Given the description of an element on the screen output the (x, y) to click on. 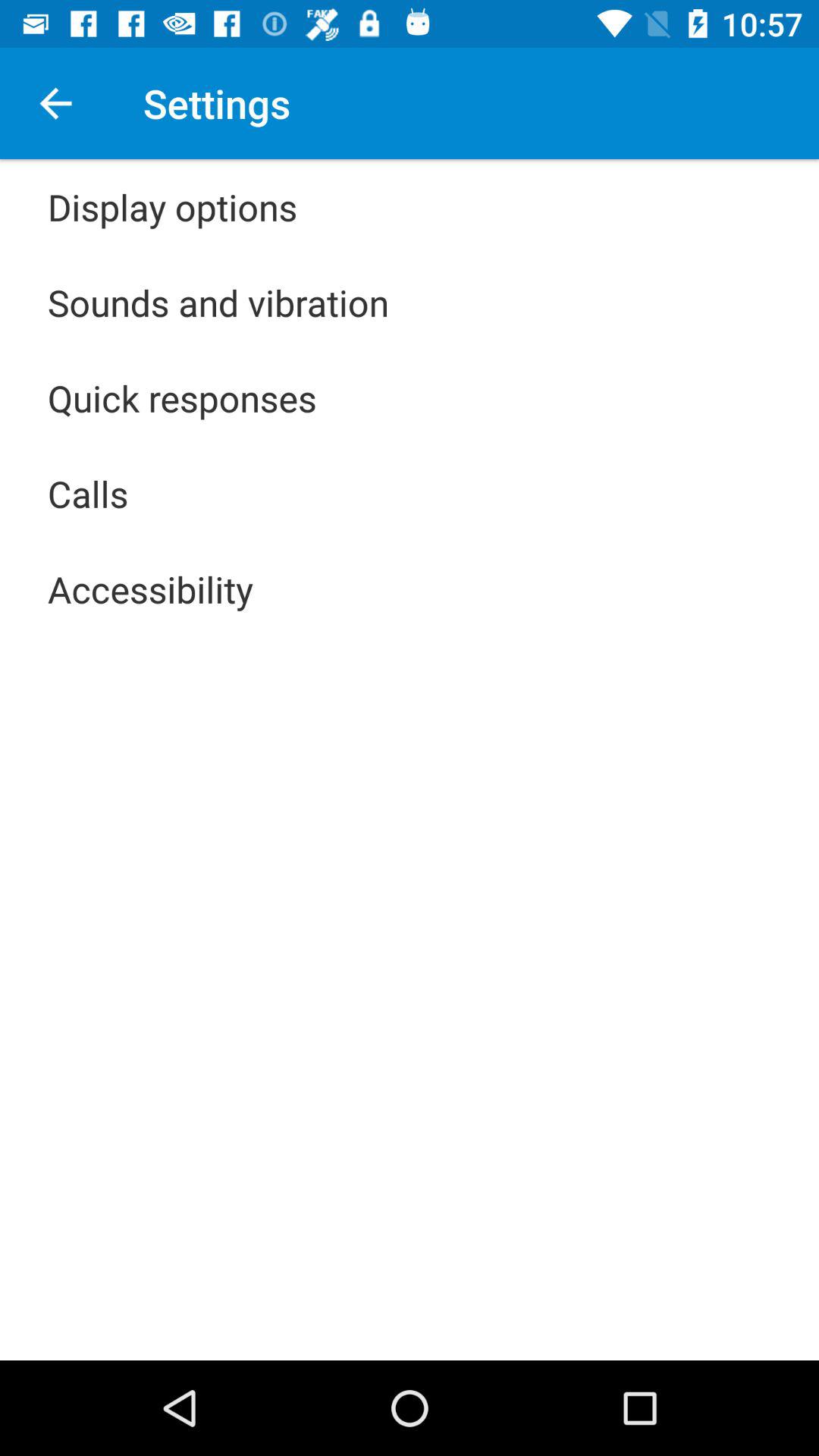
press app above calls (181, 397)
